Given the description of an element on the screen output the (x, y) to click on. 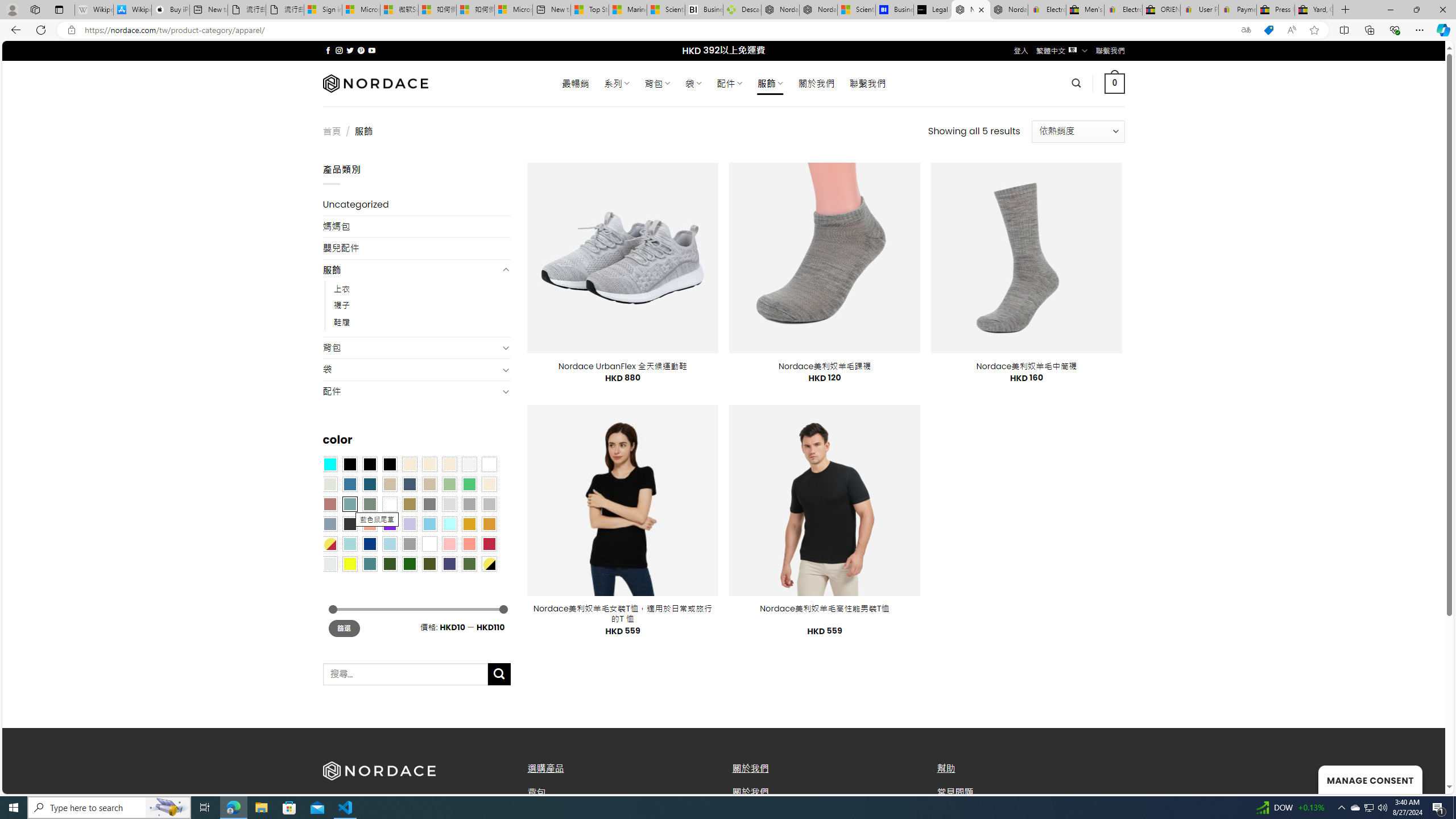
Address and search bar (658, 29)
